Given the description of an element on the screen output the (x, y) to click on. 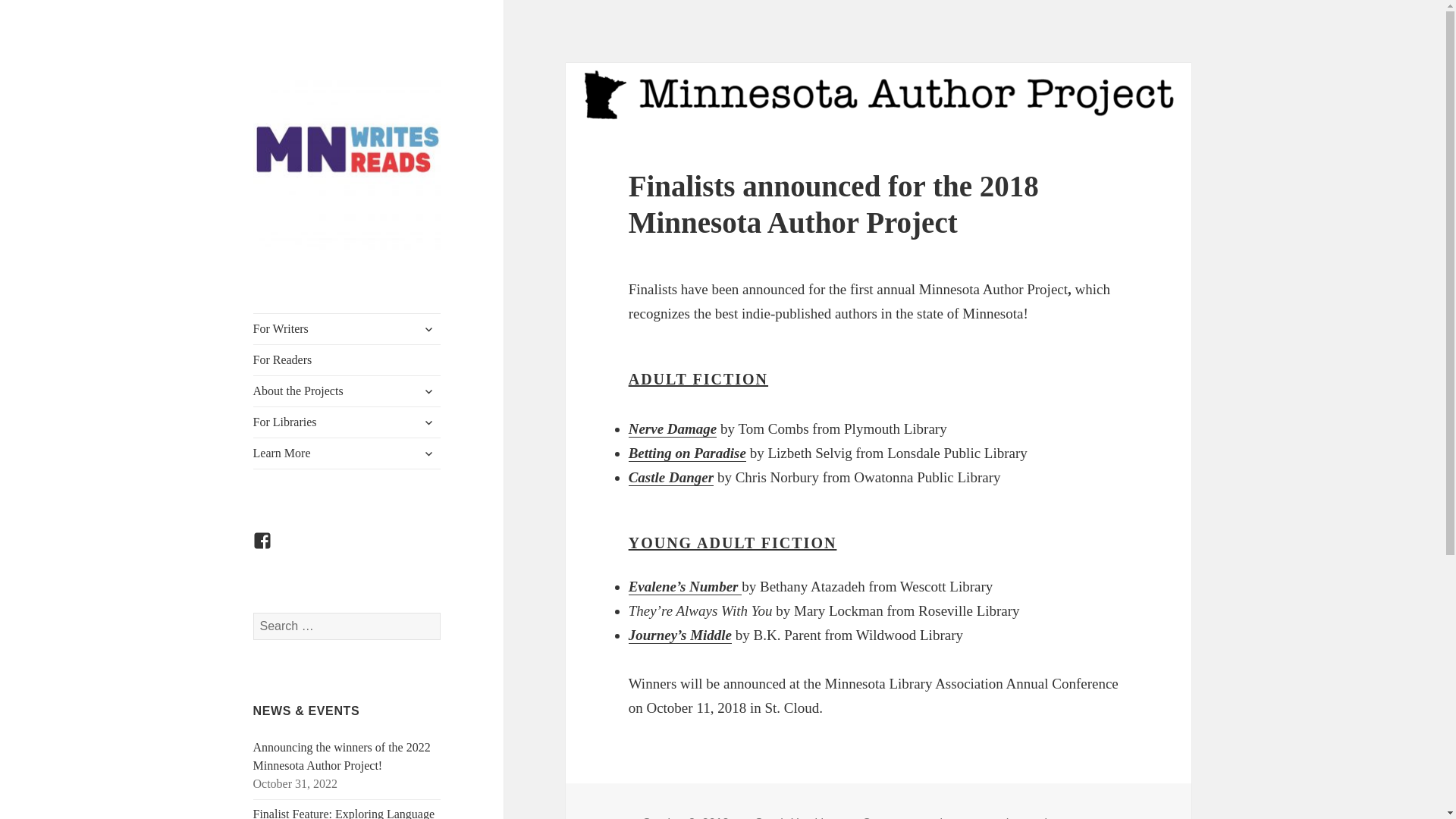
About the Projects (347, 390)
Sarah Hawkins (794, 817)
Facebook (271, 549)
expand child menu (428, 328)
Learn More (347, 453)
expand child menu (428, 391)
Nerve Damage (672, 428)
Contest (882, 817)
Castle Danger (670, 477)
Betting on Paradise (686, 453)
October 3, 2018 (685, 817)
expand child menu (428, 453)
